Given the description of an element on the screen output the (x, y) to click on. 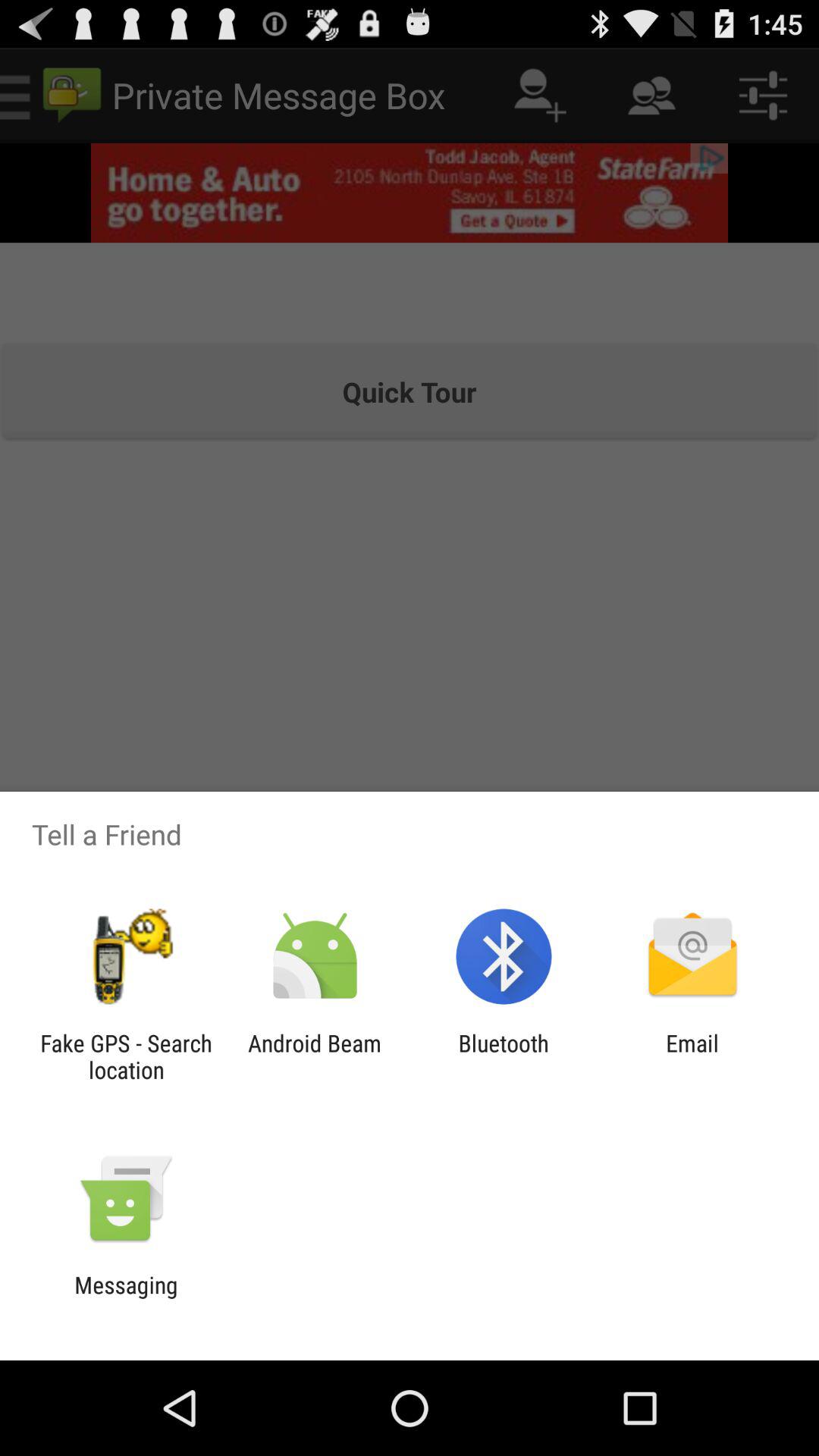
flip until the android beam (314, 1056)
